Given the description of an element on the screen output the (x, y) to click on. 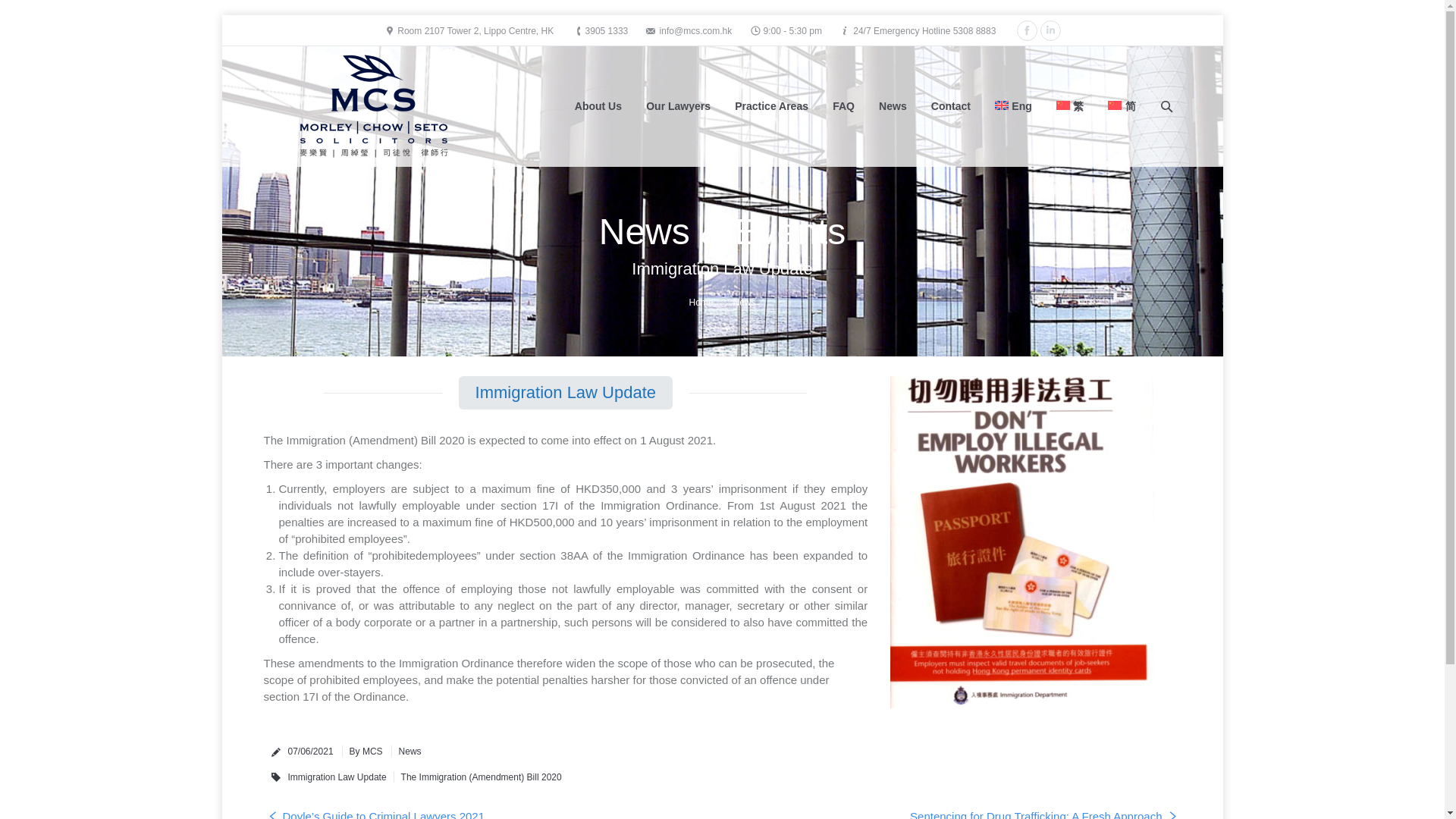
Practice Areas (771, 106)
About Us (598, 106)
2:30 pm (310, 751)
View all posts by MCS (362, 751)
FAQ (843, 106)
Facebook (1026, 30)
Linkedin (1051, 30)
News (892, 106)
Eng (1014, 106)
Eng (1014, 106)
